Given the description of an element on the screen output the (x, y) to click on. 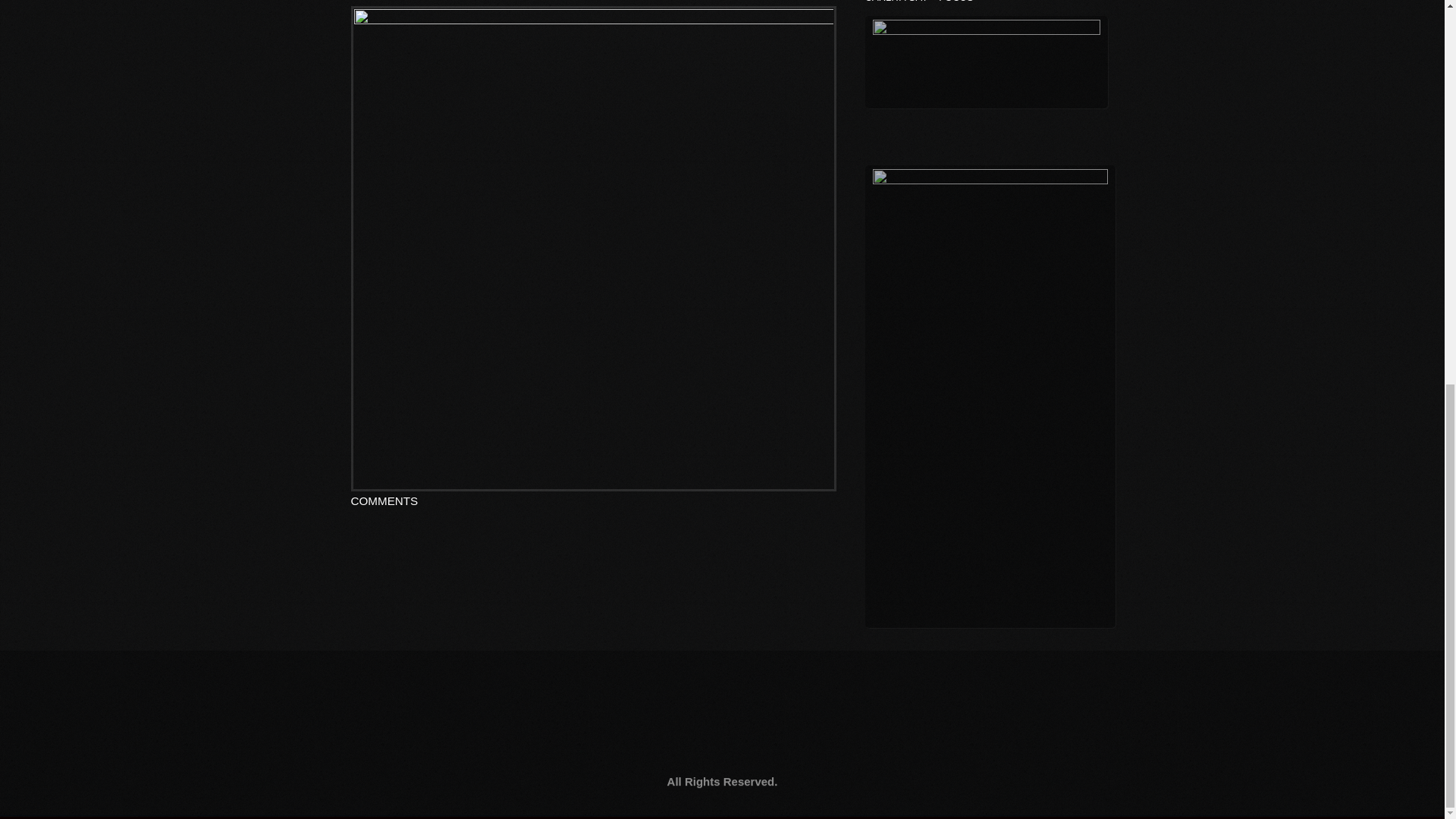
youtube (611, 739)
twitter (826, 739)
instagram (710, 739)
facebook (508, 739)
soundcloud (938, 739)
